Given the description of an element on the screen output the (x, y) to click on. 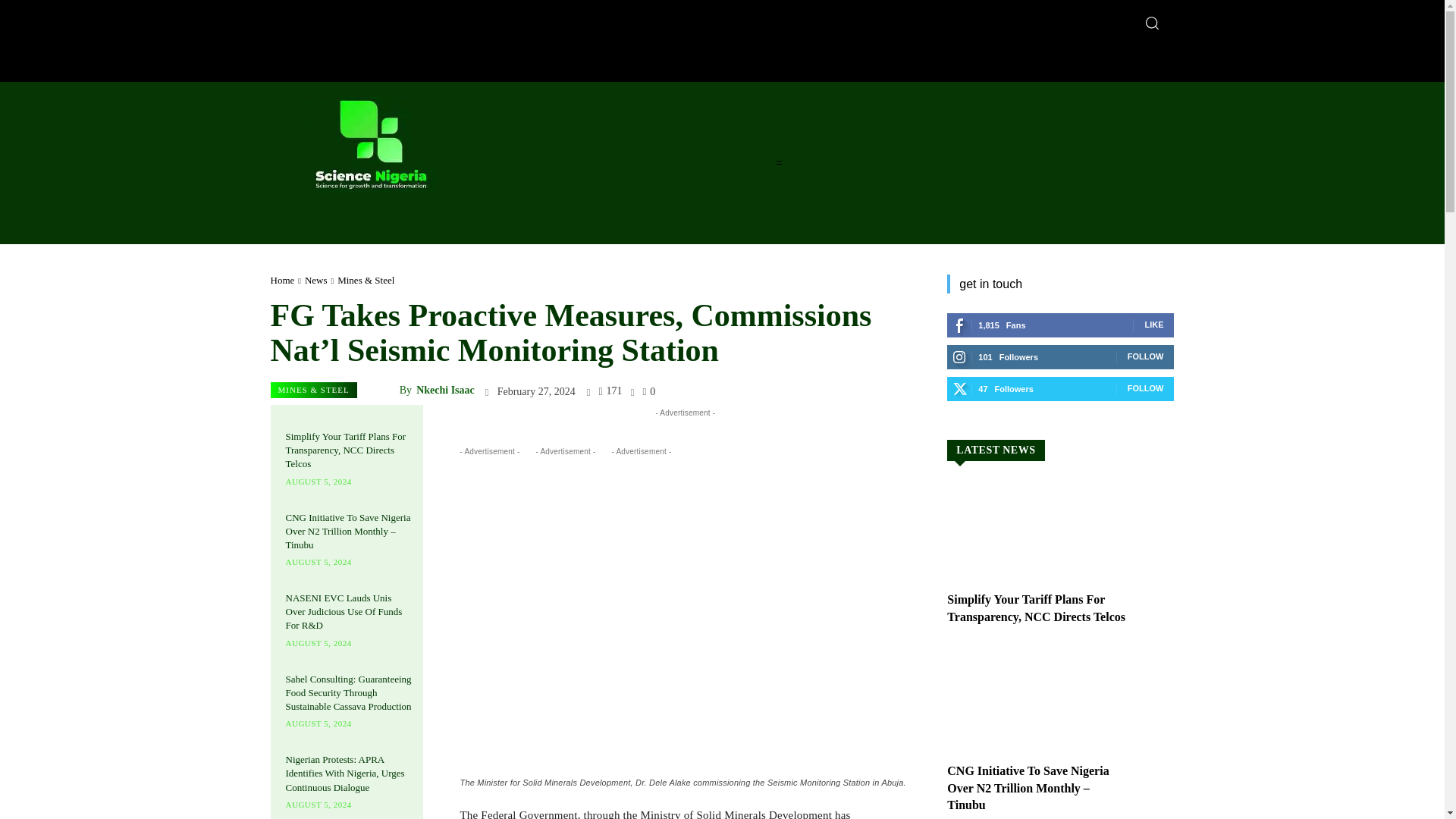
Nkechi Isaac (385, 390)
View all posts in News (315, 279)
